Given the description of an element on the screen output the (x, y) to click on. 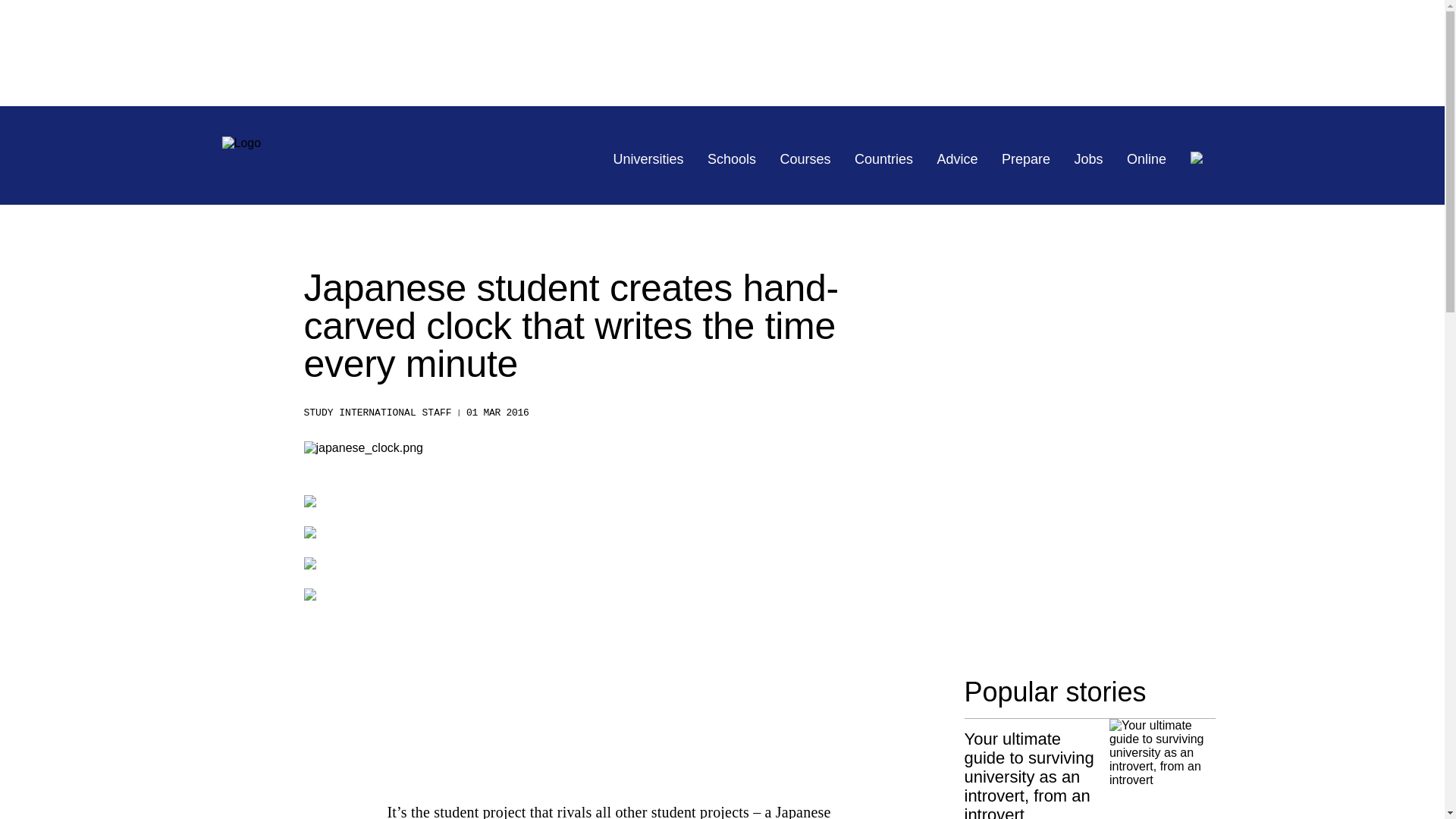
Countries (883, 159)
Advice (957, 159)
Schools (731, 159)
Jobs (1088, 159)
Online (1146, 159)
Universities (648, 159)
STUDY INTERNATIONAL STAFF (376, 412)
Courses (805, 159)
Prepare (1025, 159)
